Given the description of an element on the screen output the (x, y) to click on. 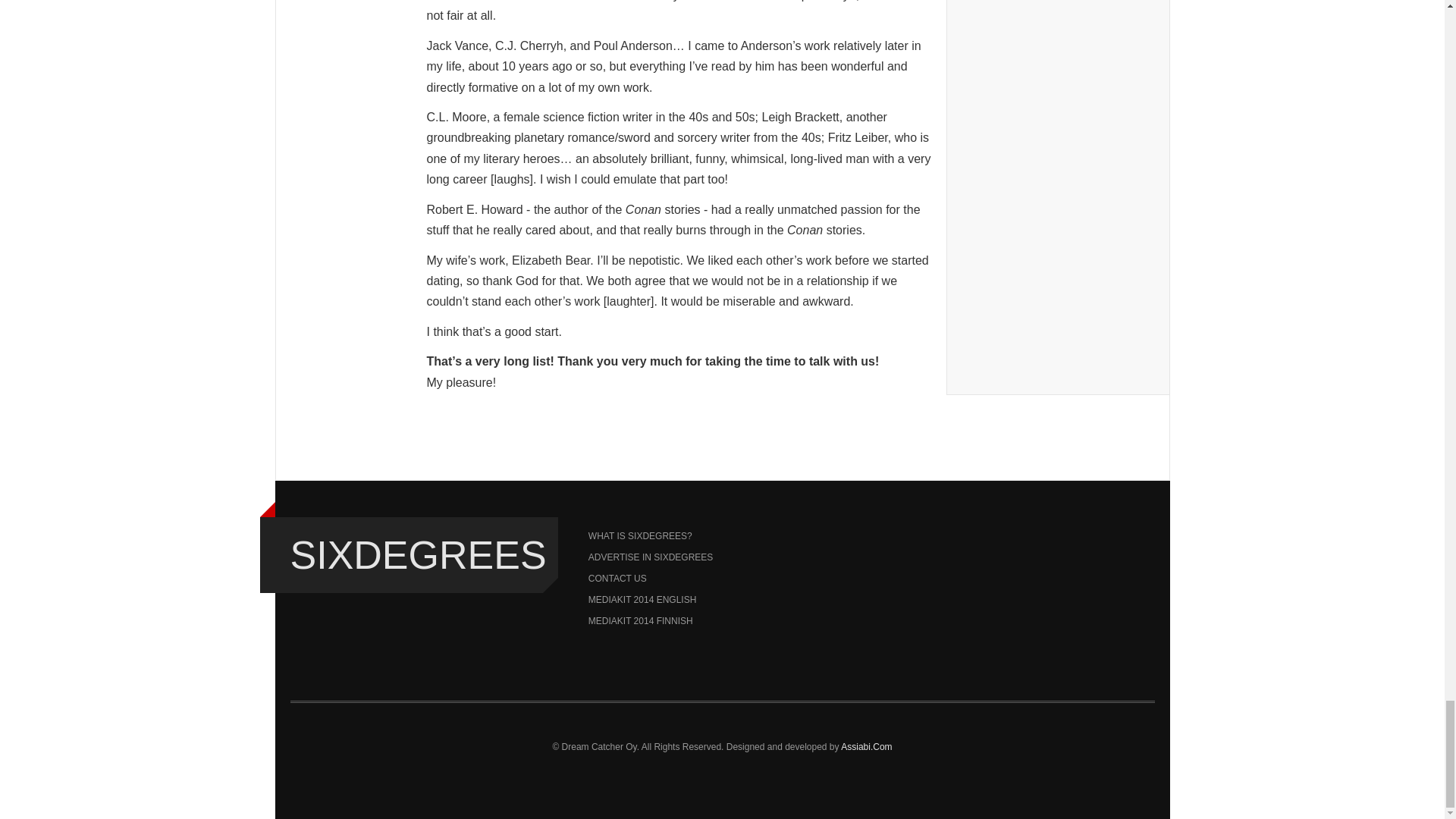
SixDegrees (417, 554)
ADVERTISE IN SIXDEGREES (722, 557)
Assiabi.Com (866, 747)
MEDIAKIT 2014 ENGLISH (722, 599)
MEDIAKIT 2014 FINNISH (722, 620)
WHAT IS SIXDEGREES? (722, 536)
SIXDEGREES (417, 554)
CONTACT US (722, 578)
